Given the description of an element on the screen output the (x, y) to click on. 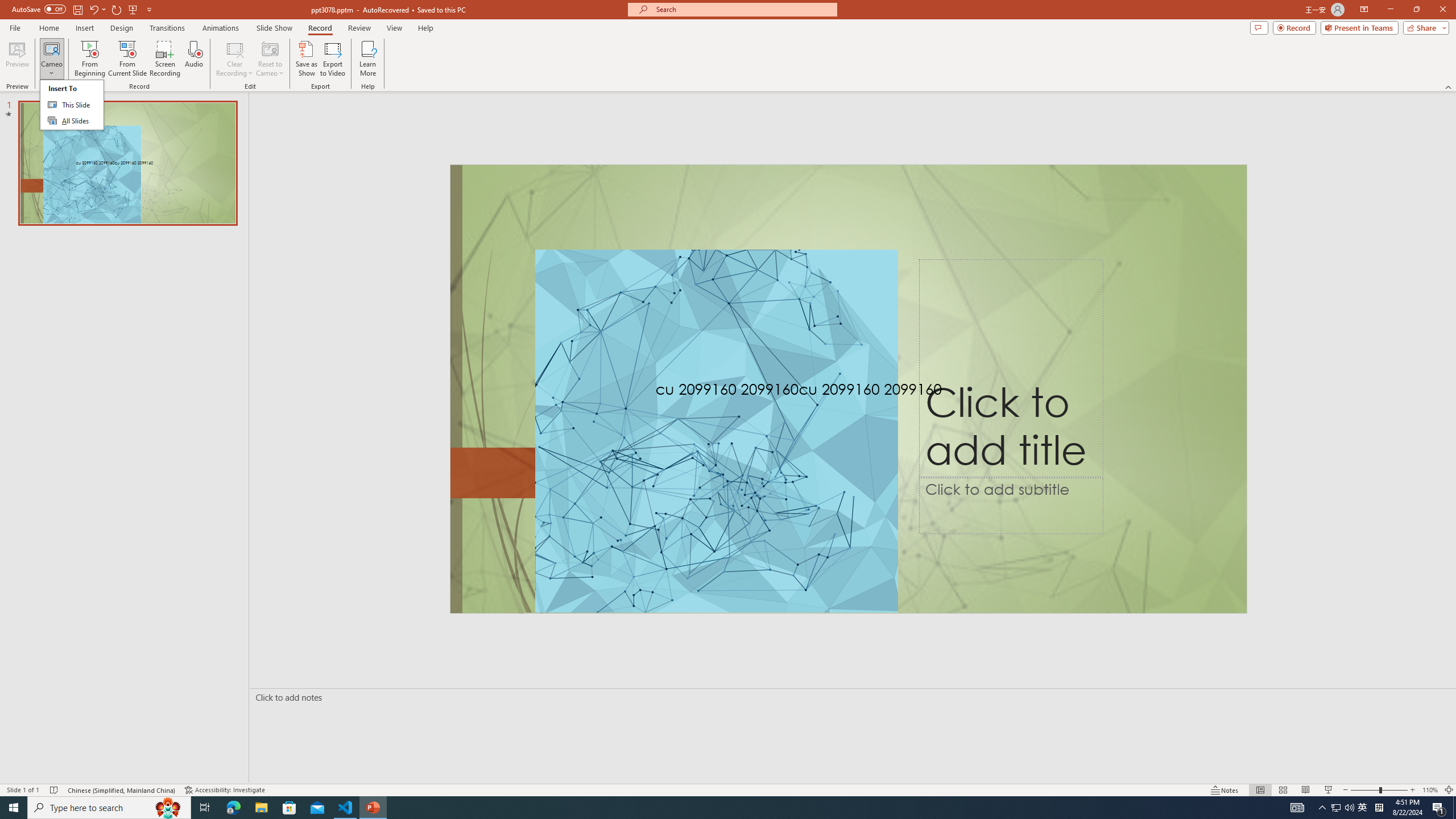
Normal (1260, 790)
Review (359, 28)
Show desktop (1454, 807)
Design (122, 28)
Microsoft search (742, 9)
Share (1423, 27)
Record (320, 28)
From Beginning (133, 9)
View (395, 28)
Microsoft Store (289, 807)
AutoSave (38, 9)
Screen Recording (165, 58)
Zoom to Fit  (1449, 790)
Visual Studio Code - 1 running window (345, 807)
Learn More (368, 58)
